Given the description of an element on the screen output the (x, y) to click on. 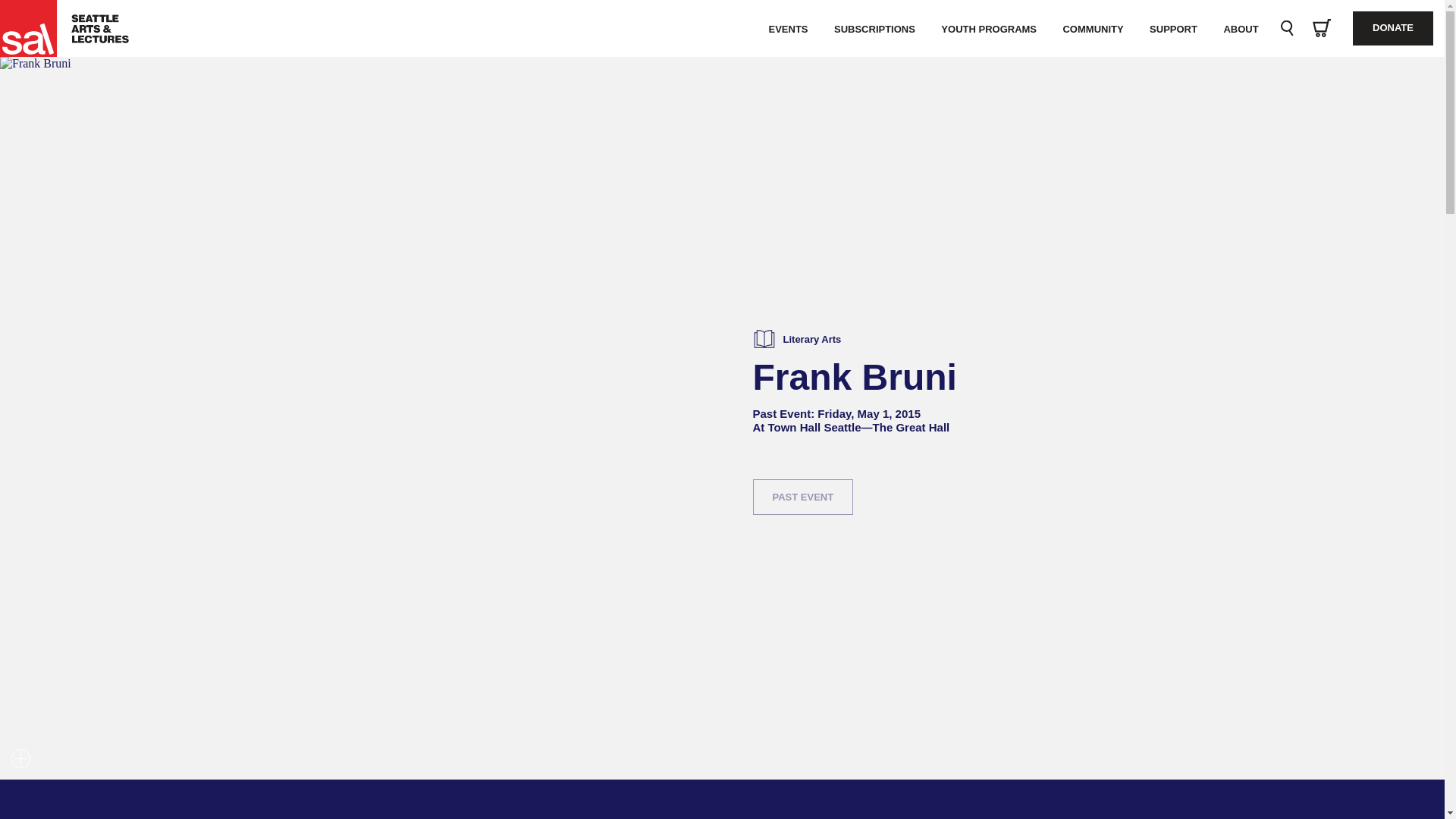
PAST EVENT (802, 497)
EVENTS (788, 28)
SUBSCRIPTIONS (874, 28)
DONATE (1392, 28)
SUPPORT (1173, 28)
CART ICON (1321, 28)
ABOUT (1240, 28)
COMMUNITY (1092, 28)
CART ICON (1321, 27)
YOUTH PROGRAMS (989, 28)
Seattle Arts and Lectures (35, 28)
